Given the description of an element on the screen output the (x, y) to click on. 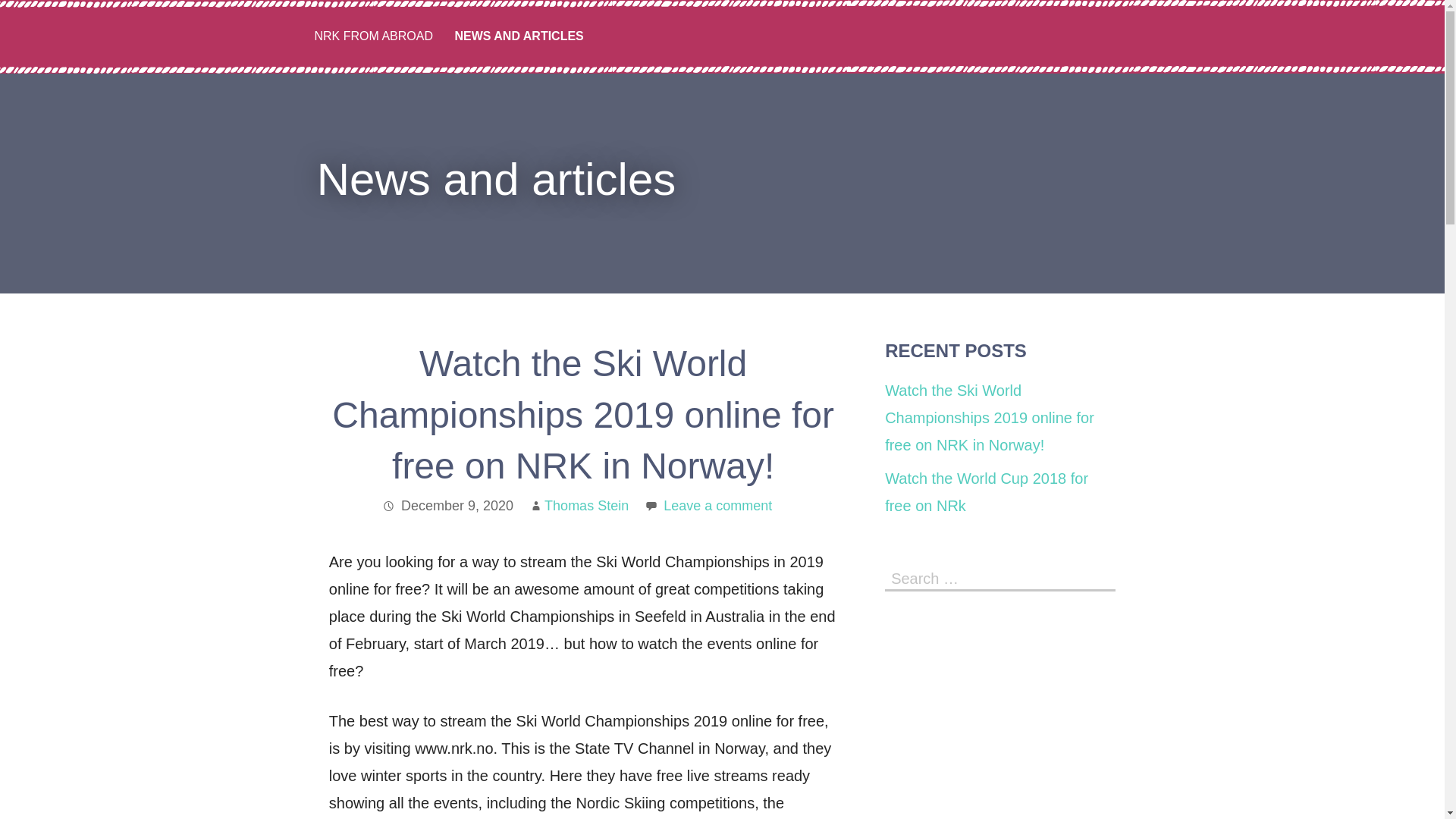
Thomas Stein (586, 505)
Posts by Thomas Stein (586, 505)
Leave a comment (717, 505)
NRK FROM ABROAD (372, 36)
Search (1099, 576)
Search (1099, 576)
Watch the World Cup 2018 for free on NRk (986, 492)
Search (1099, 576)
NEWS AND ARTICLES (518, 36)
